Given the description of an element on the screen output the (x, y) to click on. 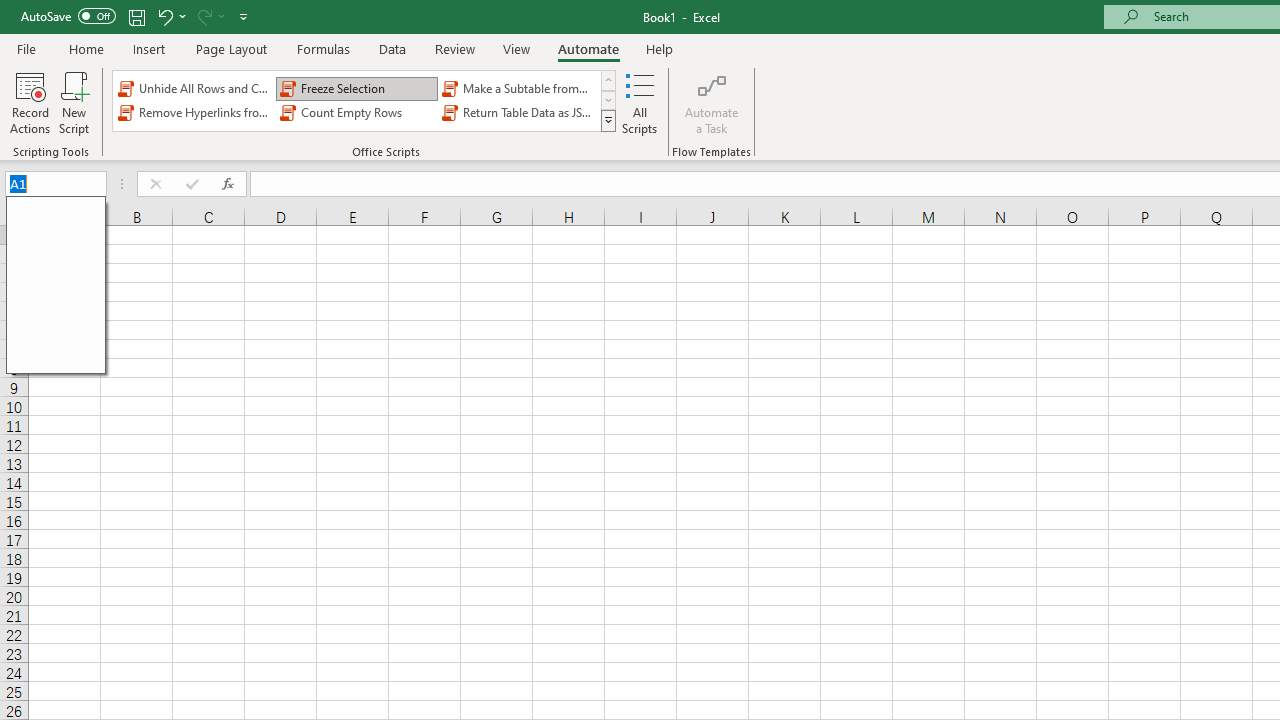
Count Empty Rows (356, 112)
All Scripts (639, 102)
Office Scripts (608, 120)
Freeze Selection (356, 88)
Return Table Data as JSON (518, 112)
Unhide All Rows and Columns (194, 88)
